Given the description of an element on the screen output the (x, y) to click on. 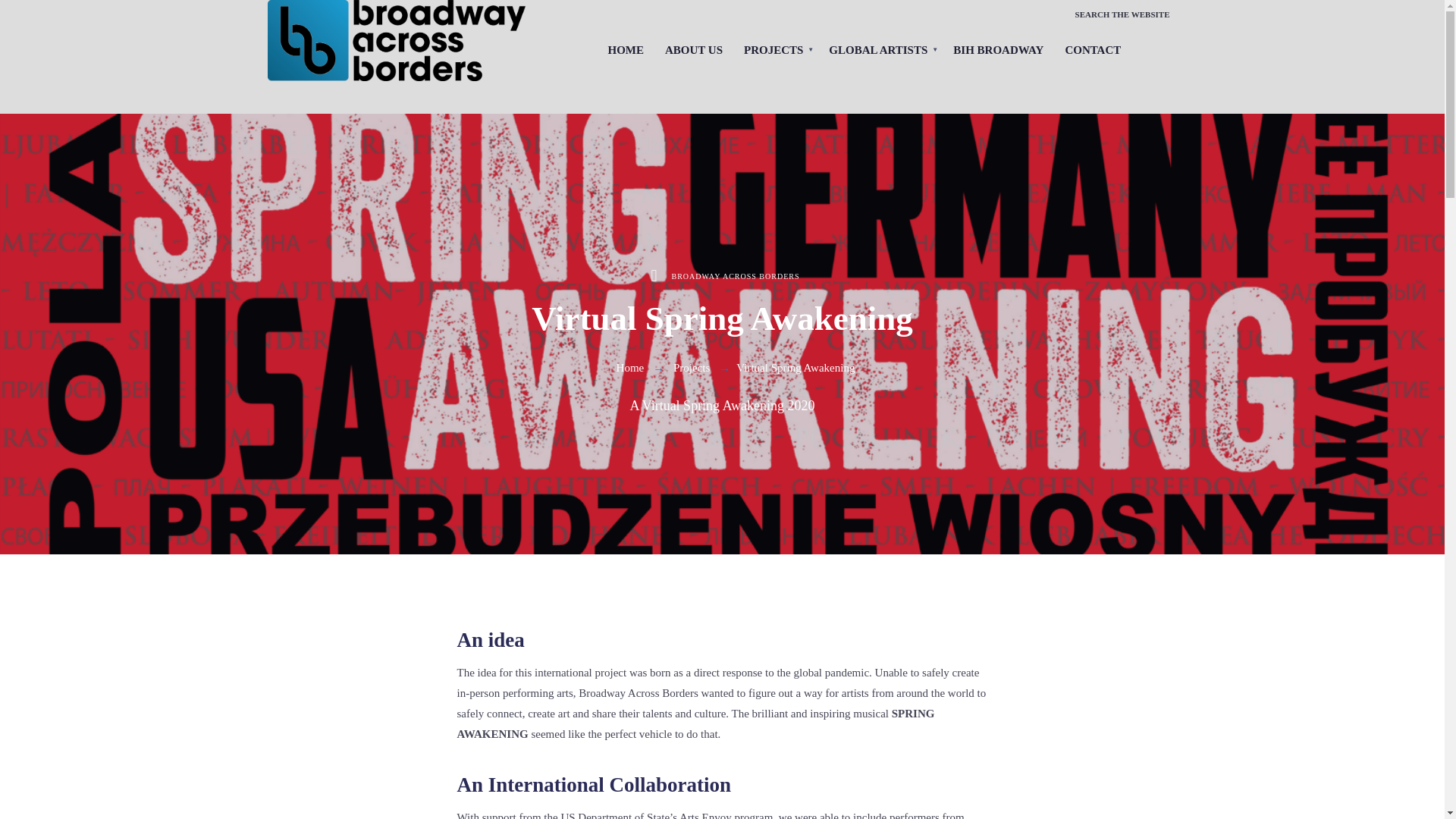
SEARCH THE WEBSITE (1122, 15)
GLOBAL ARTISTS (880, 50)
BIH BROADWAY (998, 50)
HOME (625, 50)
PROJECTS (775, 50)
ABOUT US (693, 50)
Home (630, 367)
BROADWAY ACROSS BORDERS (735, 275)
CONTACT (1092, 50)
